Given the description of an element on the screen output the (x, y) to click on. 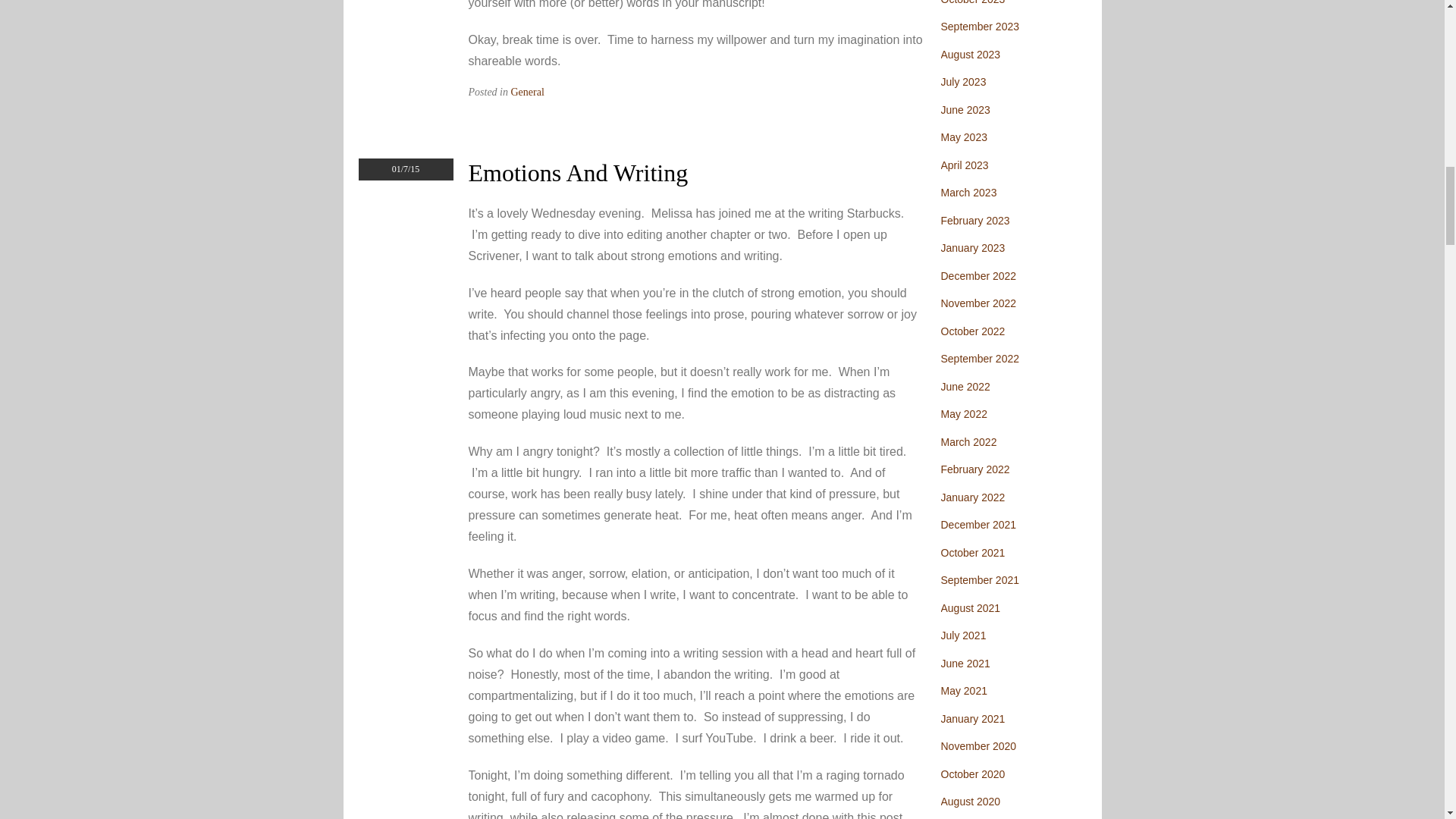
May 2023 (963, 137)
September 2023 (979, 26)
July 2023 (962, 81)
April 2023 (964, 164)
October 2023 (972, 2)
Emotions And Writing (578, 172)
August 2023 (970, 54)
General (527, 91)
Permalink to Emotions and Writing (578, 172)
June 2023 (965, 110)
